Given the description of an element on the screen output the (x, y) to click on. 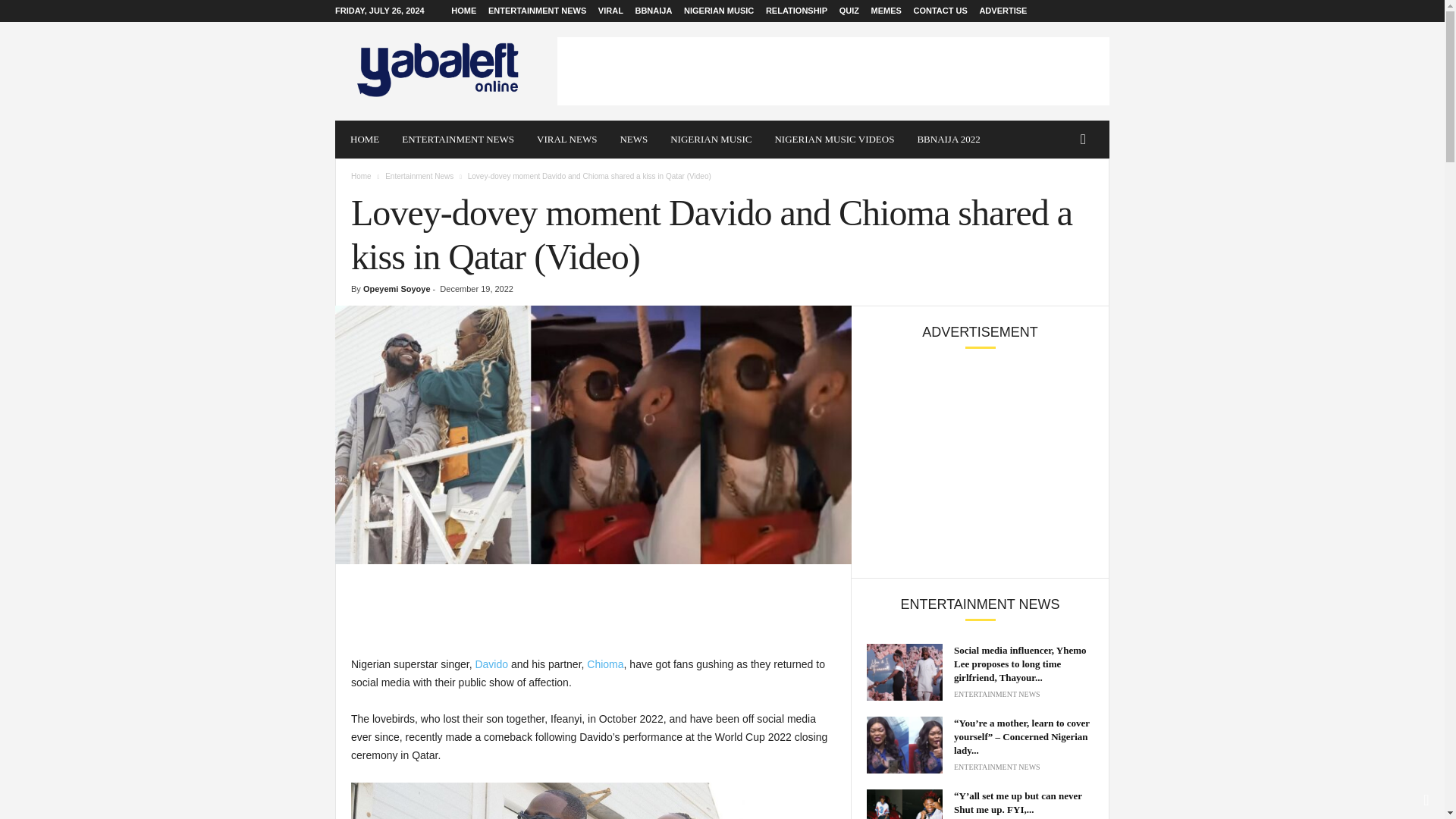
VIRAL (610, 10)
NIGERIAN MUSIC (719, 10)
HOME (364, 139)
YabaLeftOnline (437, 70)
Davido (491, 664)
ENTERTAINMENT NEWS (536, 10)
NIGERIAN MUSIC (710, 139)
Advertisement (833, 70)
yabaleftonline logo (437, 70)
Entertainment News (418, 175)
Chioma (604, 664)
BBNAIJA 2022 (948, 139)
HOME (463, 10)
dave chiii (592, 434)
ENTERTAINMENT NEWS (457, 139)
